Given the description of an element on the screen output the (x, y) to click on. 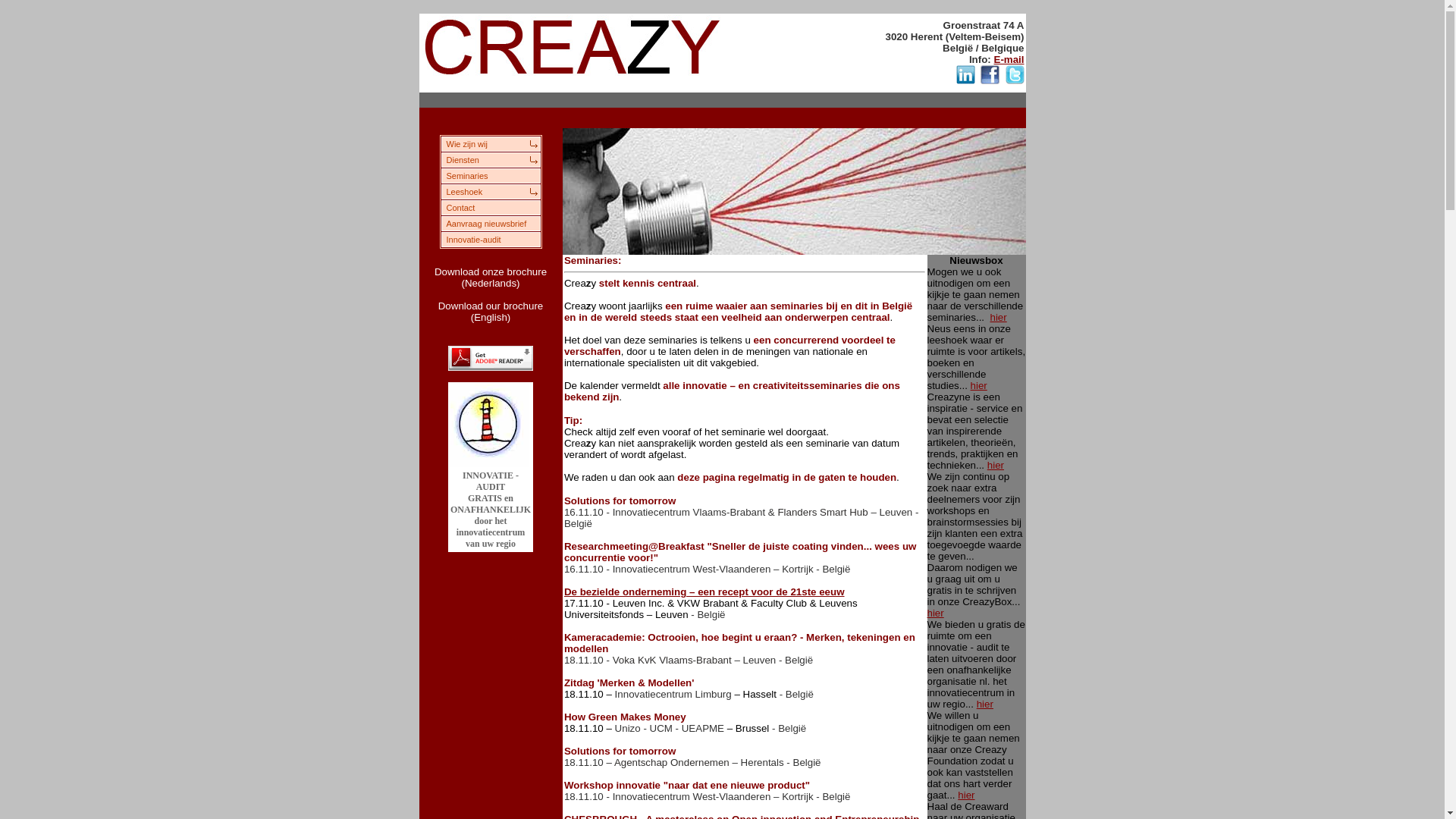
door het innovatiecentrum van uw regio Element type: text (490, 532)
Seminaries Element type: text (490, 173)
Download onze brochure
(Nederlands) Element type: text (490, 277)
Innovatie-audit Element type: text (490, 237)
hier Element type: text (984, 703)
hier Element type: text (965, 794)
Wie zijn wij Element type: text (490, 141)
Diensten Element type: text (490, 158)
Download our brochure
(English) Element type: text (490, 311)
Leeshoek Element type: text (490, 190)
Aanvraag nieuwsbrief Element type: text (490, 222)
INNOVATIE - AUDIT Element type: text (490, 481)
hier Element type: text (997, 317)
hier Element type: text (934, 612)
E-mail Element type: text (1008, 59)
Contact Element type: text (490, 205)
hier Element type: text (995, 464)
GRATIS en ONAFHANKELIJK Element type: text (490, 503)
hier Element type: text (978, 385)
